Given the description of an element on the screen output the (x, y) to click on. 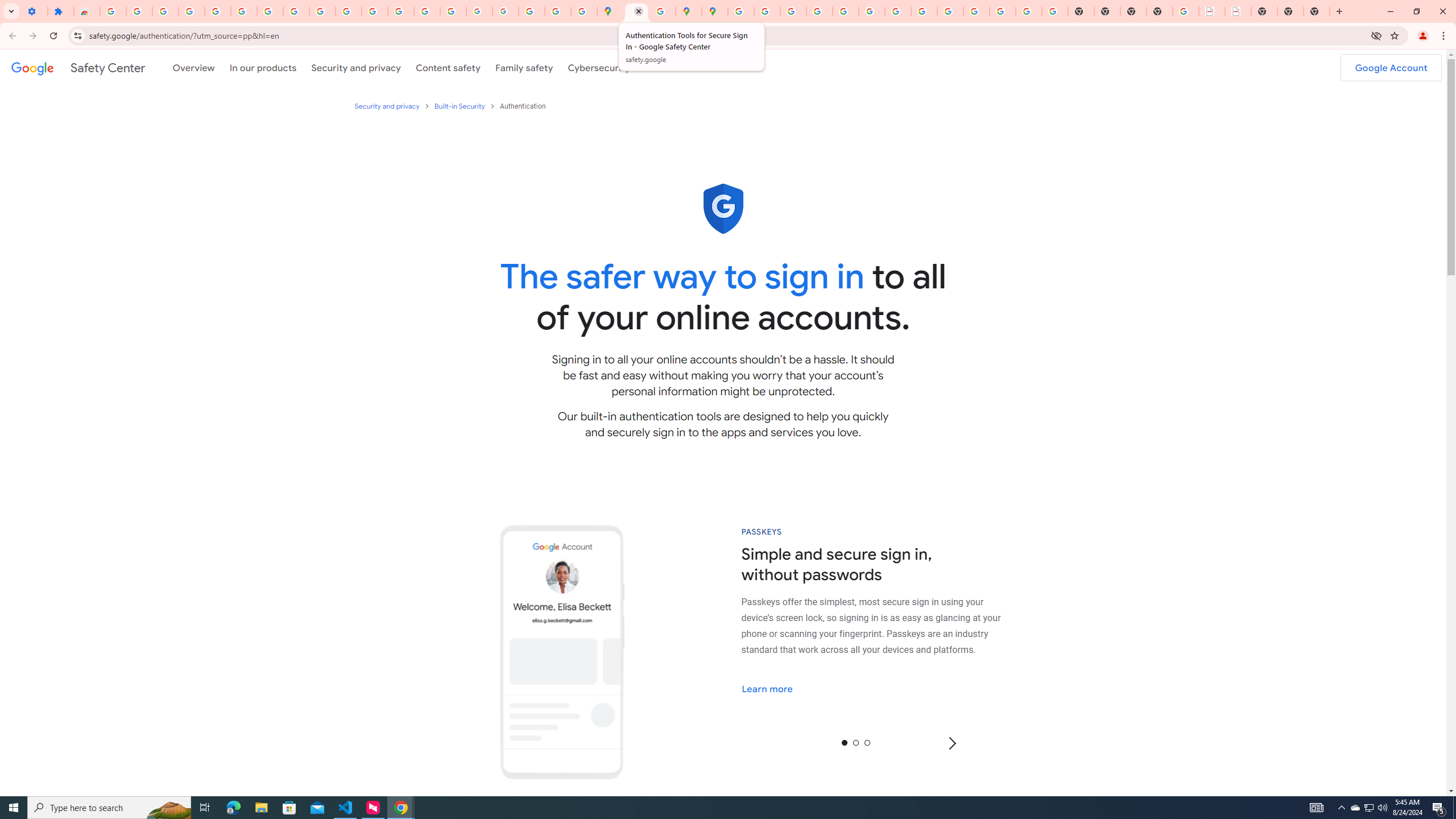
Google Account (296, 11)
Google Maps (610, 11)
Security and privacy  (386, 105)
Content safety (447, 67)
Safety Center (78, 67)
Cybersecurity (598, 67)
